Given the description of an element on the screen output the (x, y) to click on. 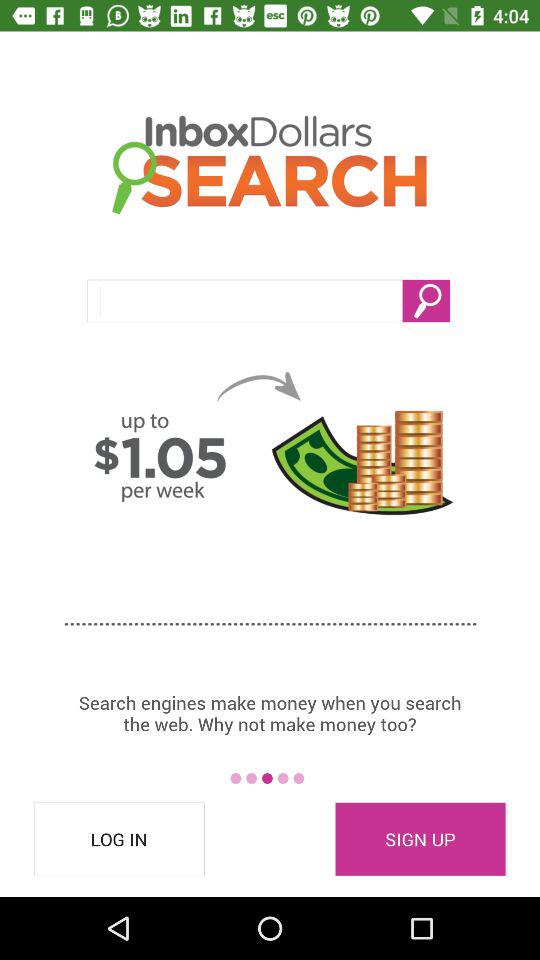
click the log in at the bottom left corner (119, 839)
